Given the description of an element on the screen output the (x, y) to click on. 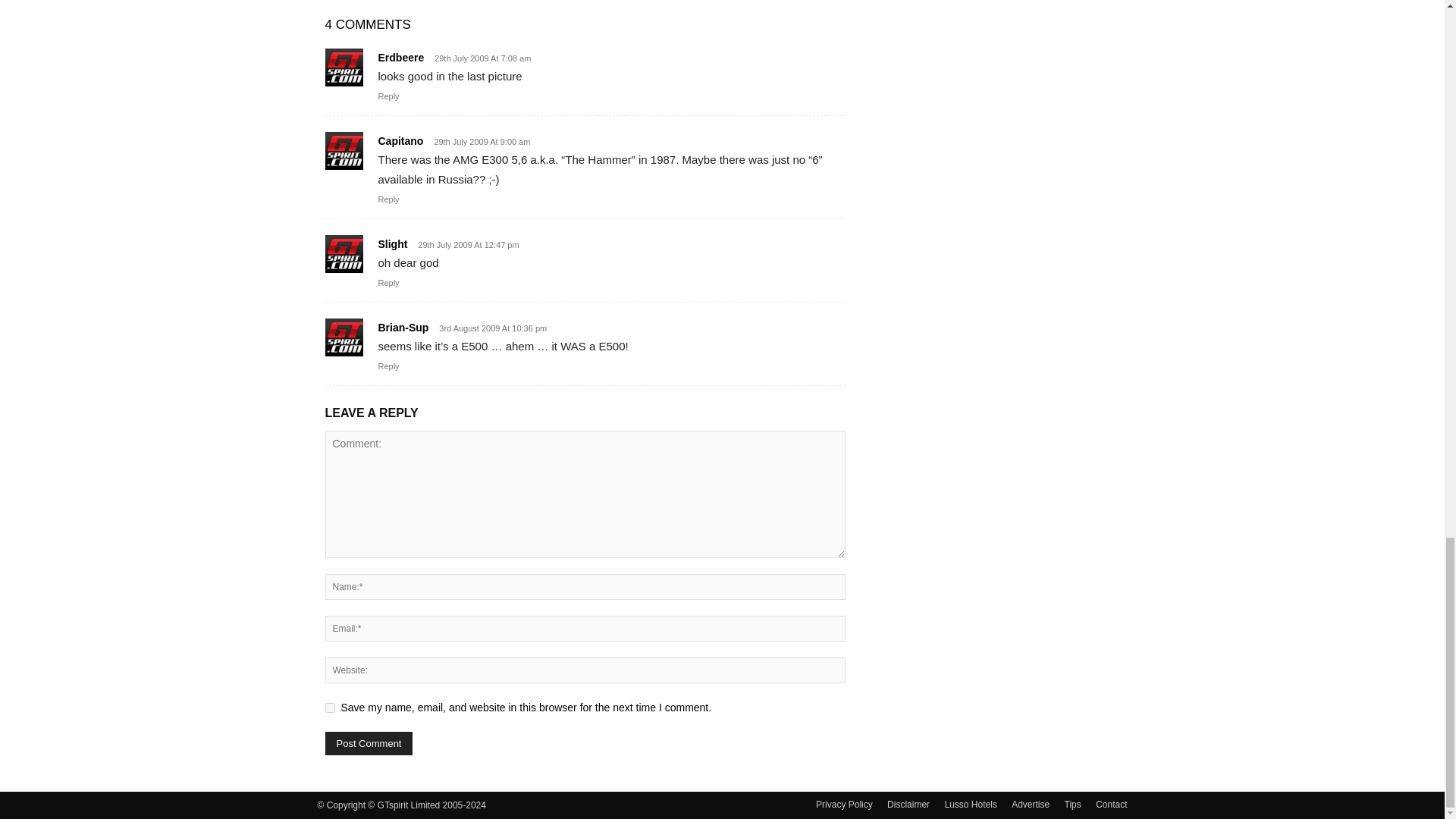
yes (329, 707)
Post Comment (368, 743)
